Given the description of an element on the screen output the (x, y) to click on. 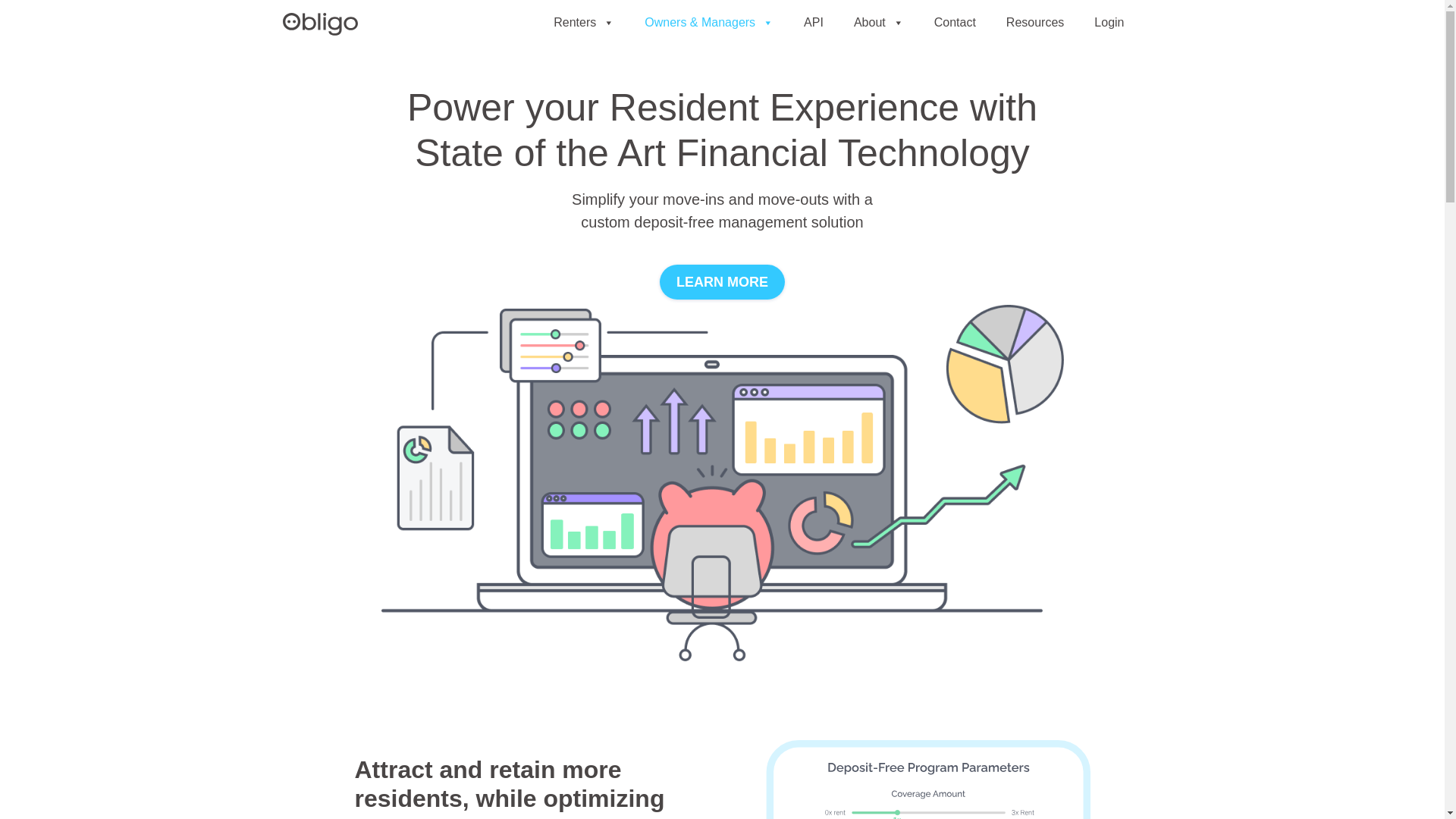
API (813, 22)
About (878, 22)
Contact (954, 22)
LEARN MORE (721, 281)
Login (1108, 22)
Resources (1034, 22)
Renters (583, 22)
